Given the description of an element on the screen output the (x, y) to click on. 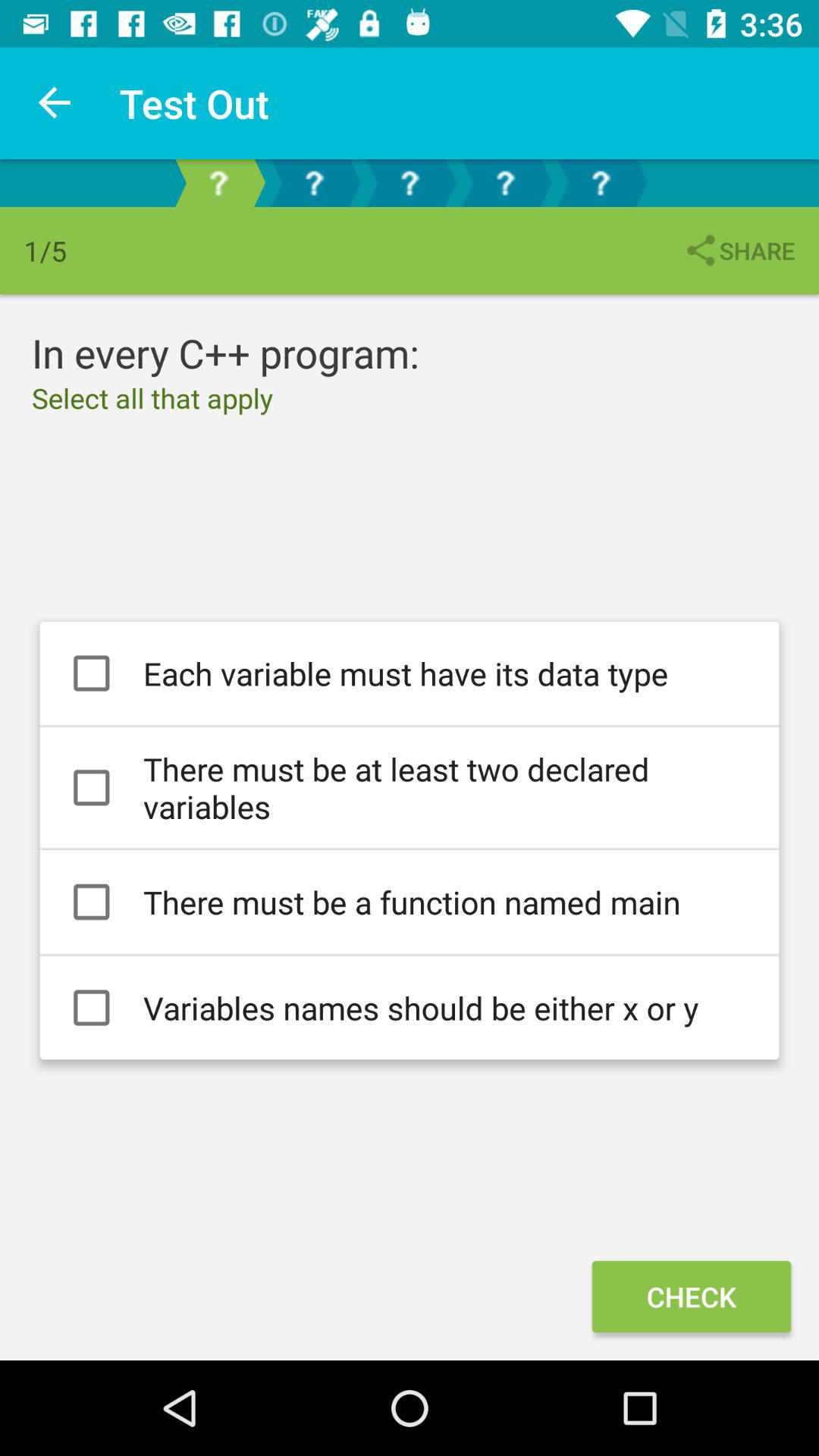
turn on the check icon (691, 1296)
